Given the description of an element on the screen output the (x, y) to click on. 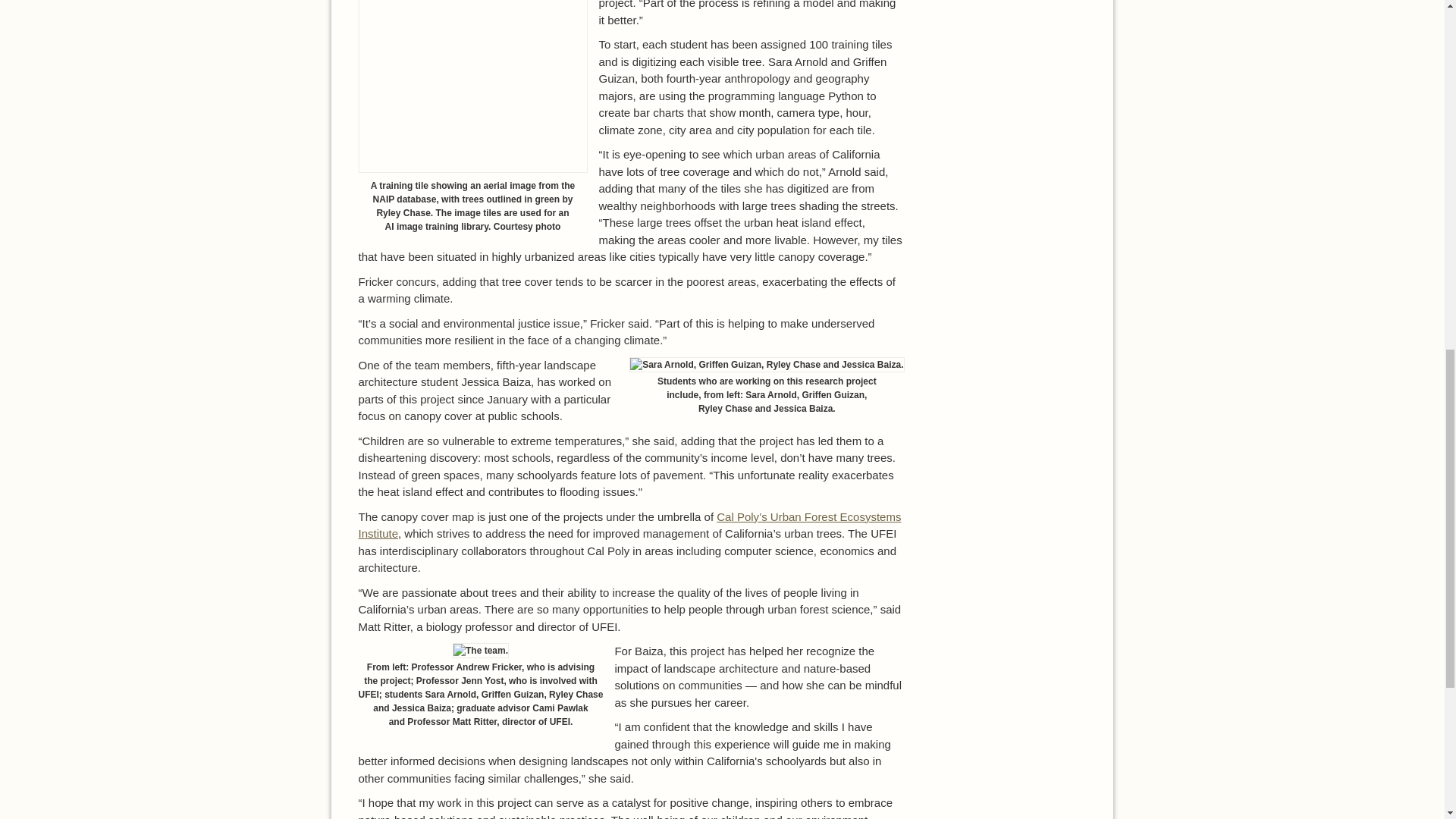
Example of an image that is floated to the left side (472, 86)
Example of an image that is floated to the right side (766, 364)
Example of an image that is floated to the left side (480, 650)
